Given the description of an element on the screen output the (x, y) to click on. 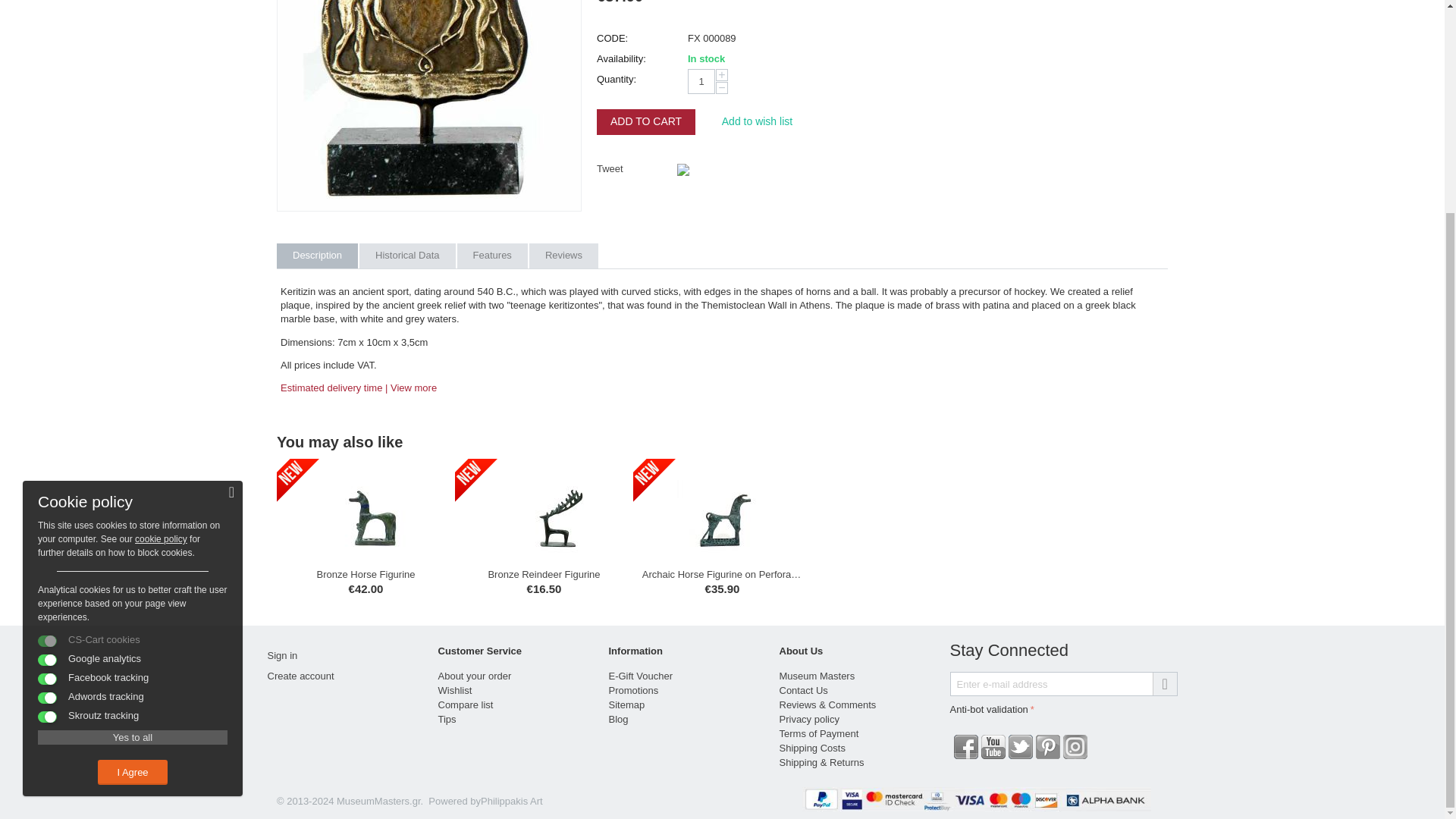
Enter e-mail address (1062, 683)
1 (700, 81)
